Given the description of an element on the screen output the (x, y) to click on. 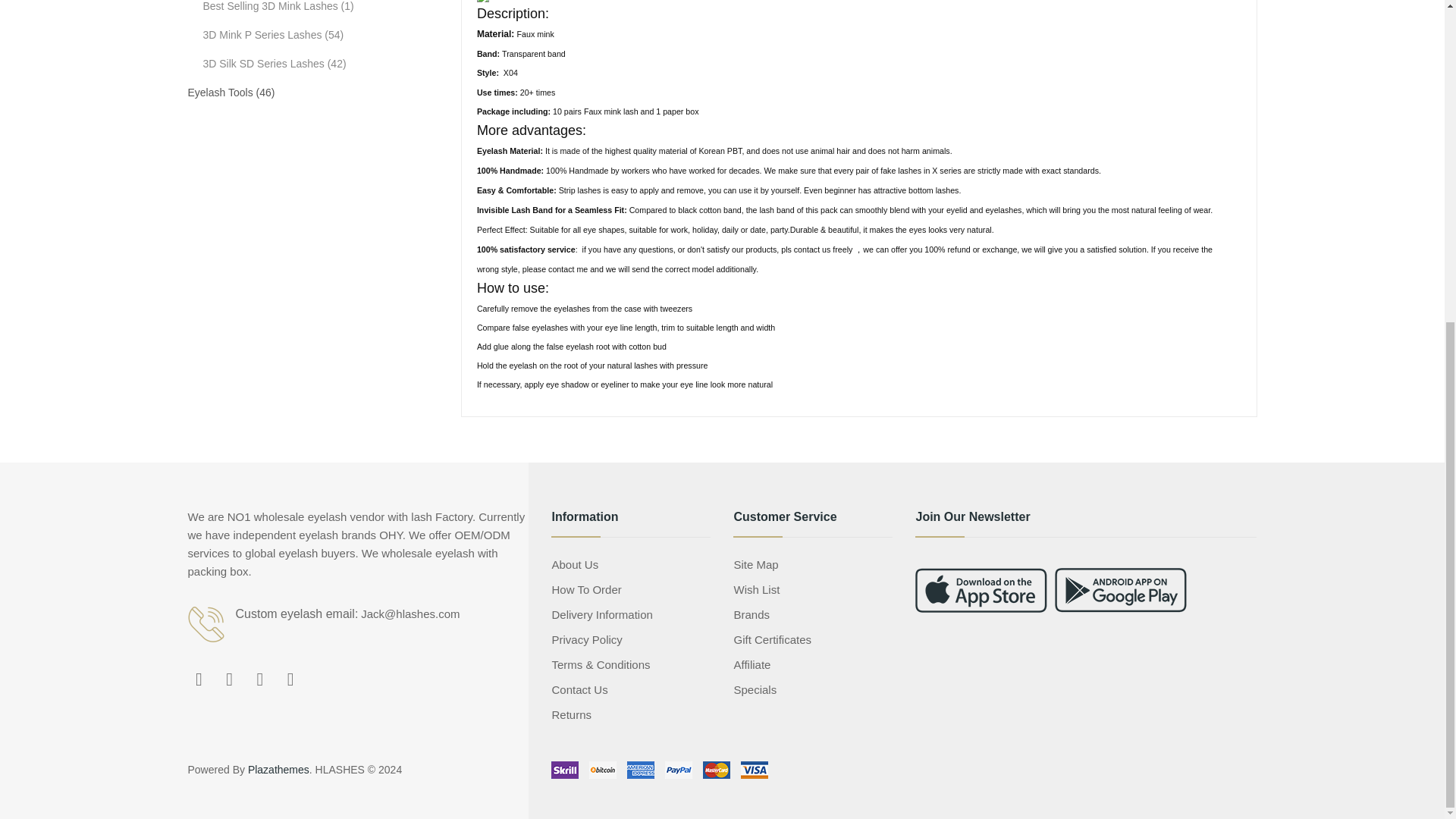
Compare this Product (1041, 212)
Twitter (229, 679)
1 (923, 114)
Facebook (199, 679)
Add to Wish List (914, 212)
